Given the description of an element on the screen output the (x, y) to click on. 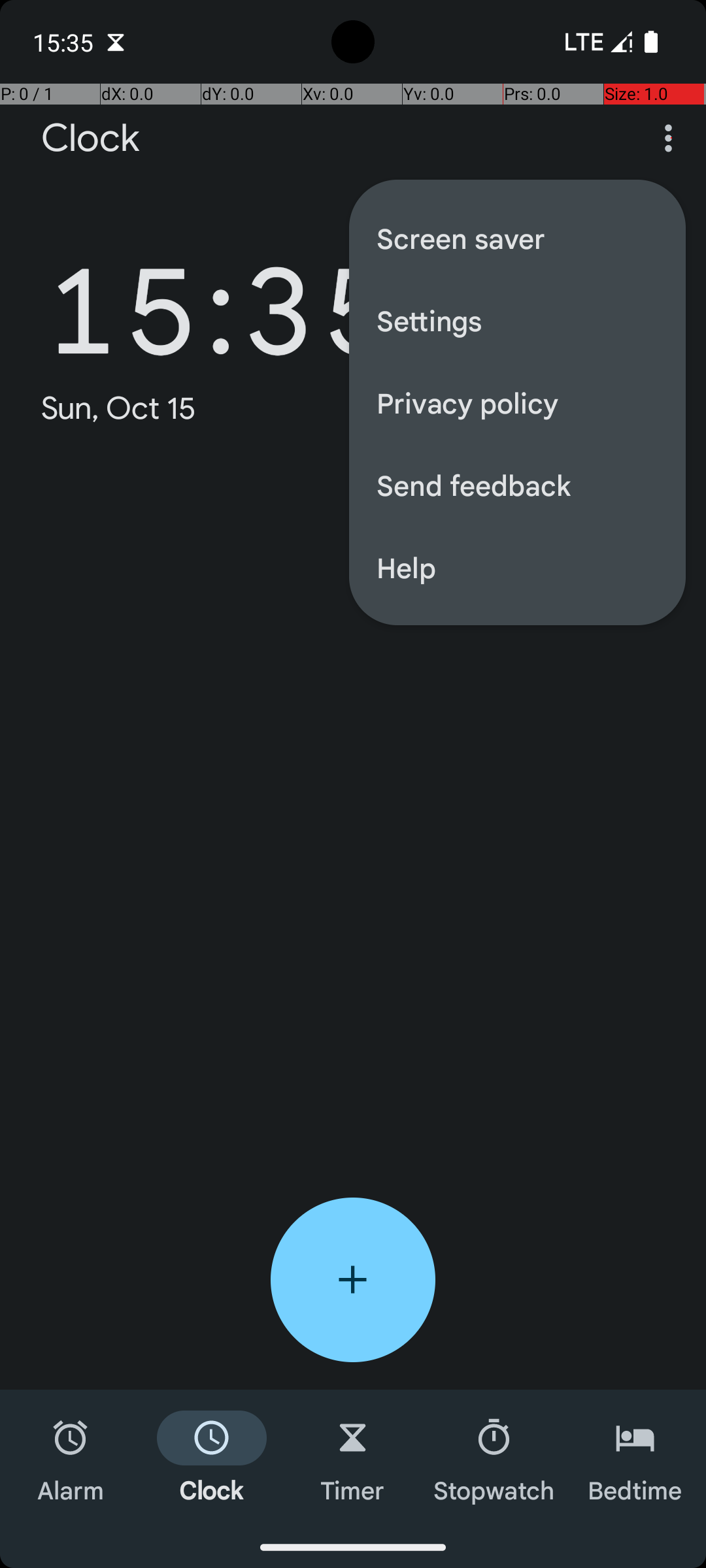
Screen saver Element type: android.widget.TextView (517, 237)
Send feedback Element type: android.widget.TextView (517, 484)
